Given the description of an element on the screen output the (x, y) to click on. 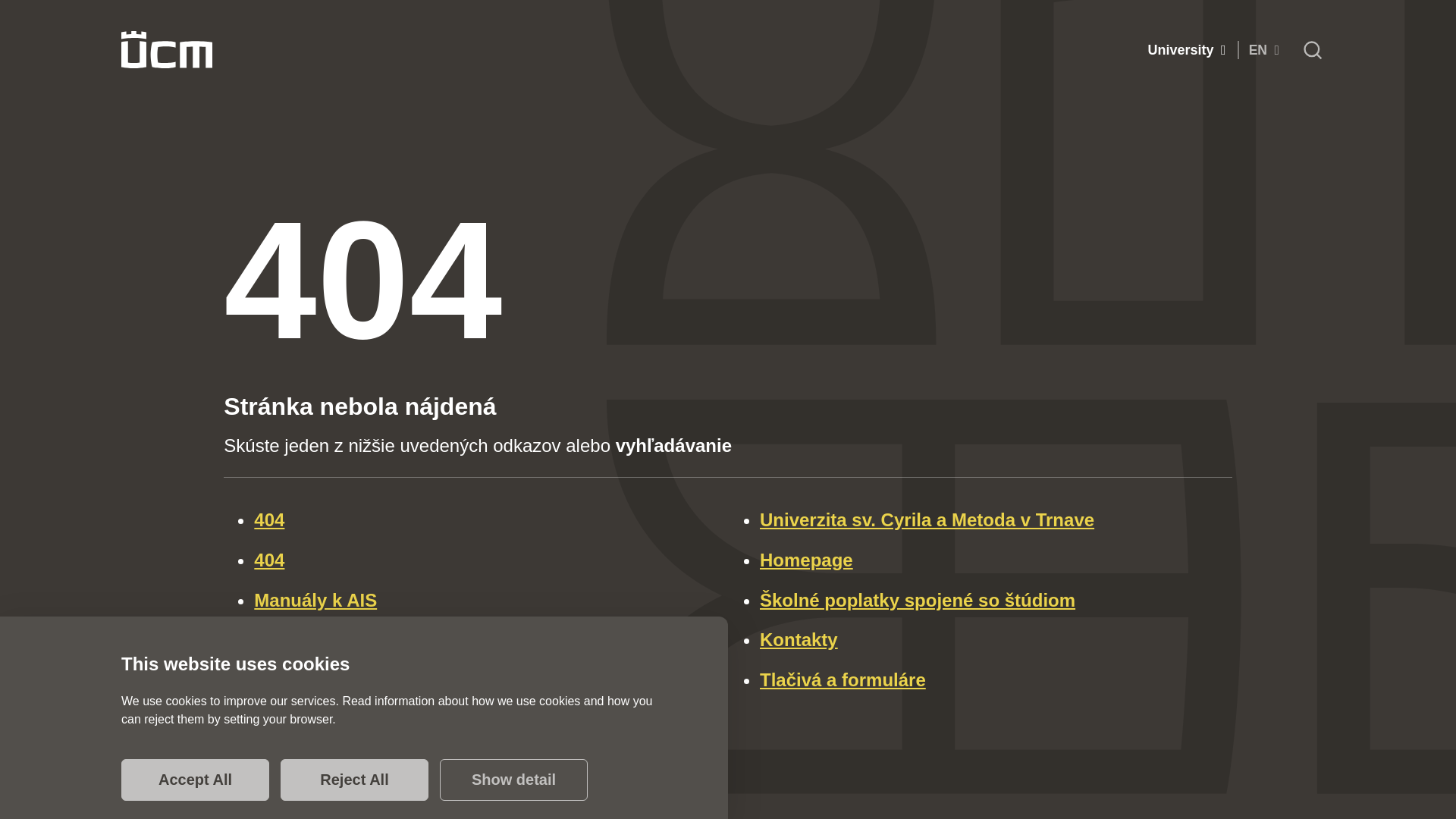
404 (486, 560)
Homepage (992, 560)
Accept All (194, 779)
Search results (486, 640)
Show detail (513, 779)
Kontakty (992, 640)
404 (486, 520)
Reject All (354, 779)
University (1185, 50)
Univerzita sv. Cyrila a Metoda v Trnave (992, 520)
